Given the description of an element on the screen output the (x, y) to click on. 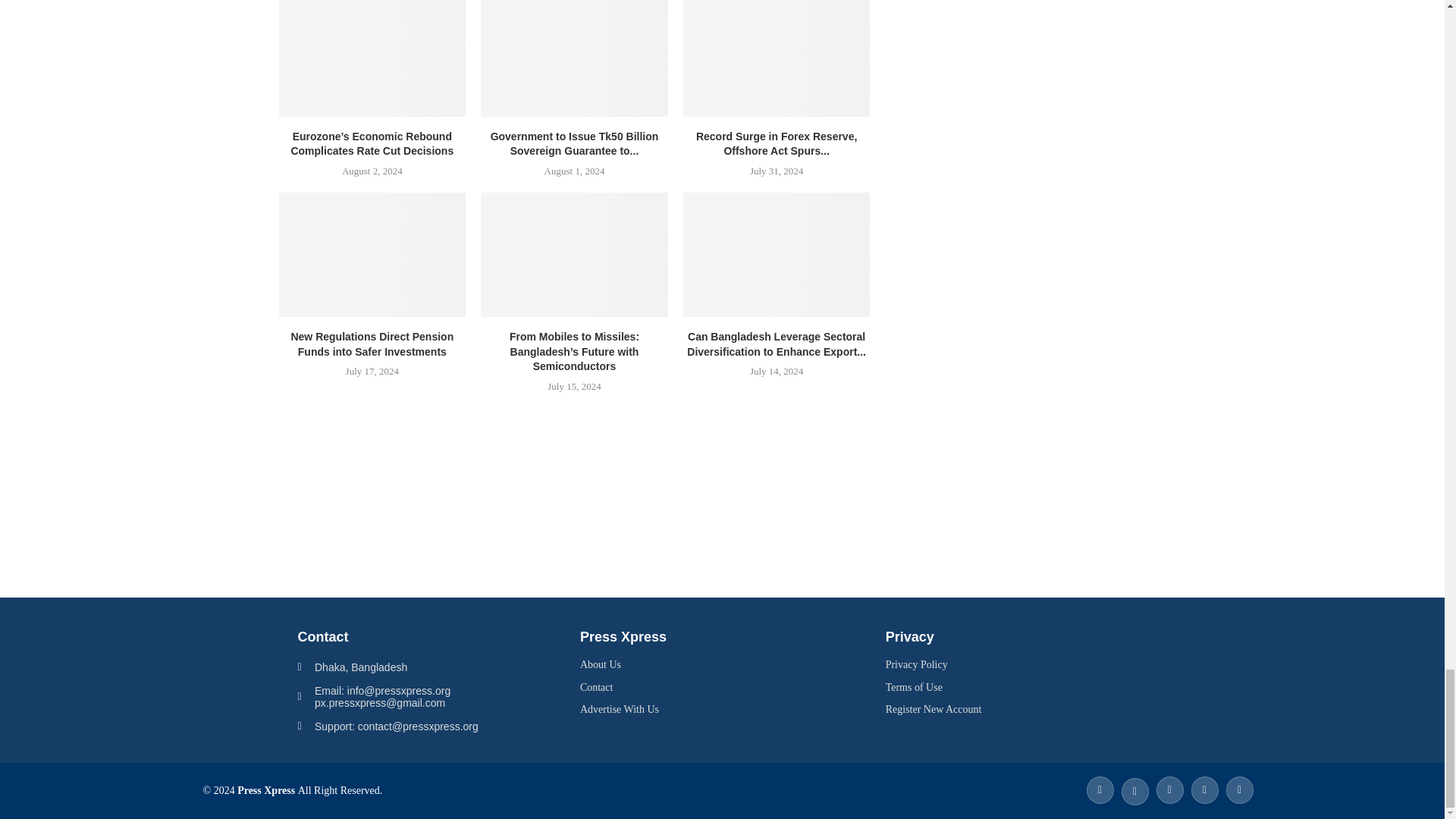
Record Surge in Forex Reserve, Offshore Act Spurs Growth (776, 58)
New Regulations Direct Pension Funds into Safer Investments (372, 254)
